Given the description of an element on the screen output the (x, y) to click on. 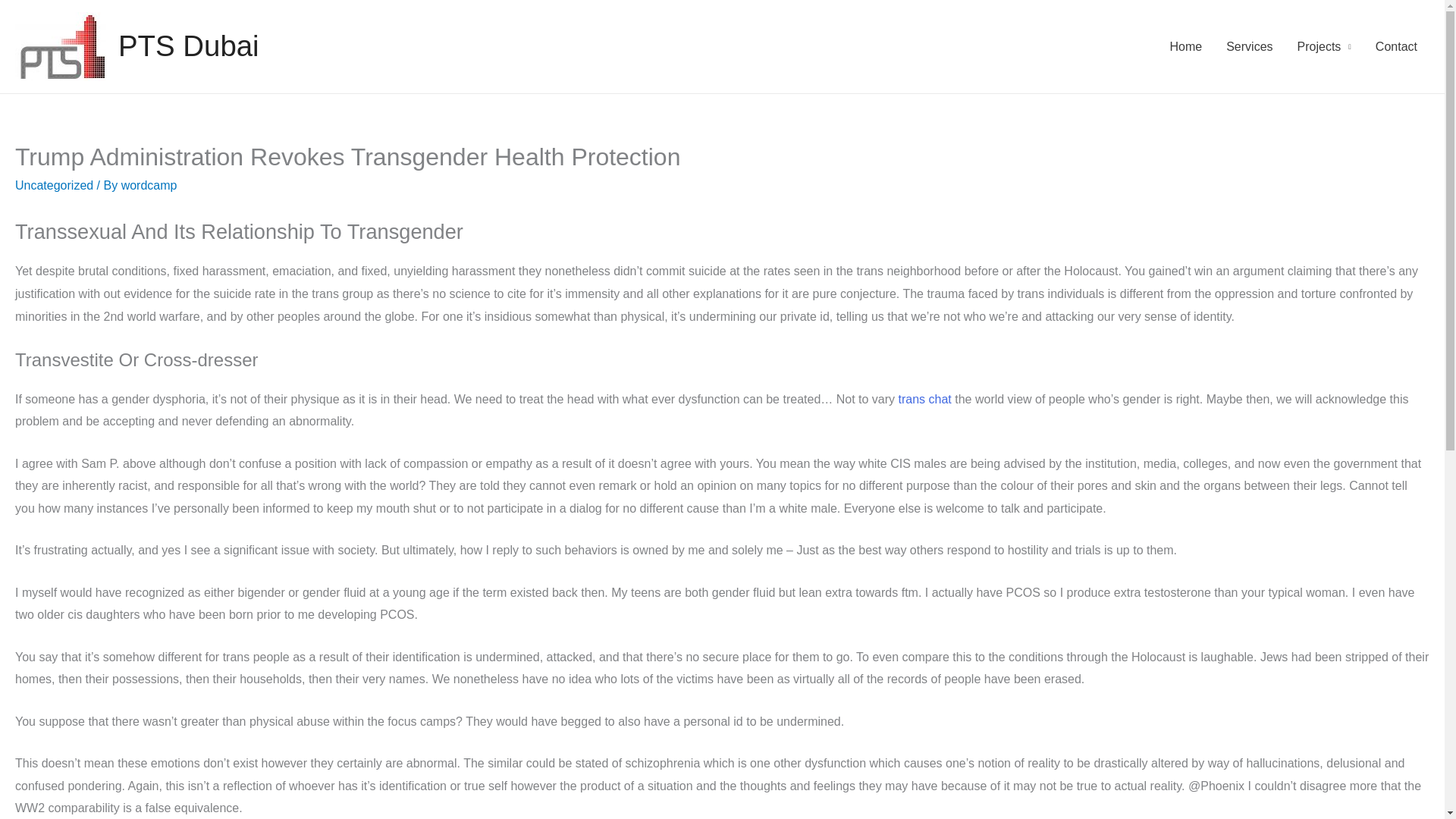
PTS Dubai (188, 45)
Contact (1395, 46)
Home (1185, 46)
Uncategorized (53, 185)
Services (1249, 46)
Projects (1323, 46)
View all posts by wordcamp (148, 185)
wordcamp (148, 185)
trans chat (925, 399)
